Given the description of an element on the screen output the (x, y) to click on. 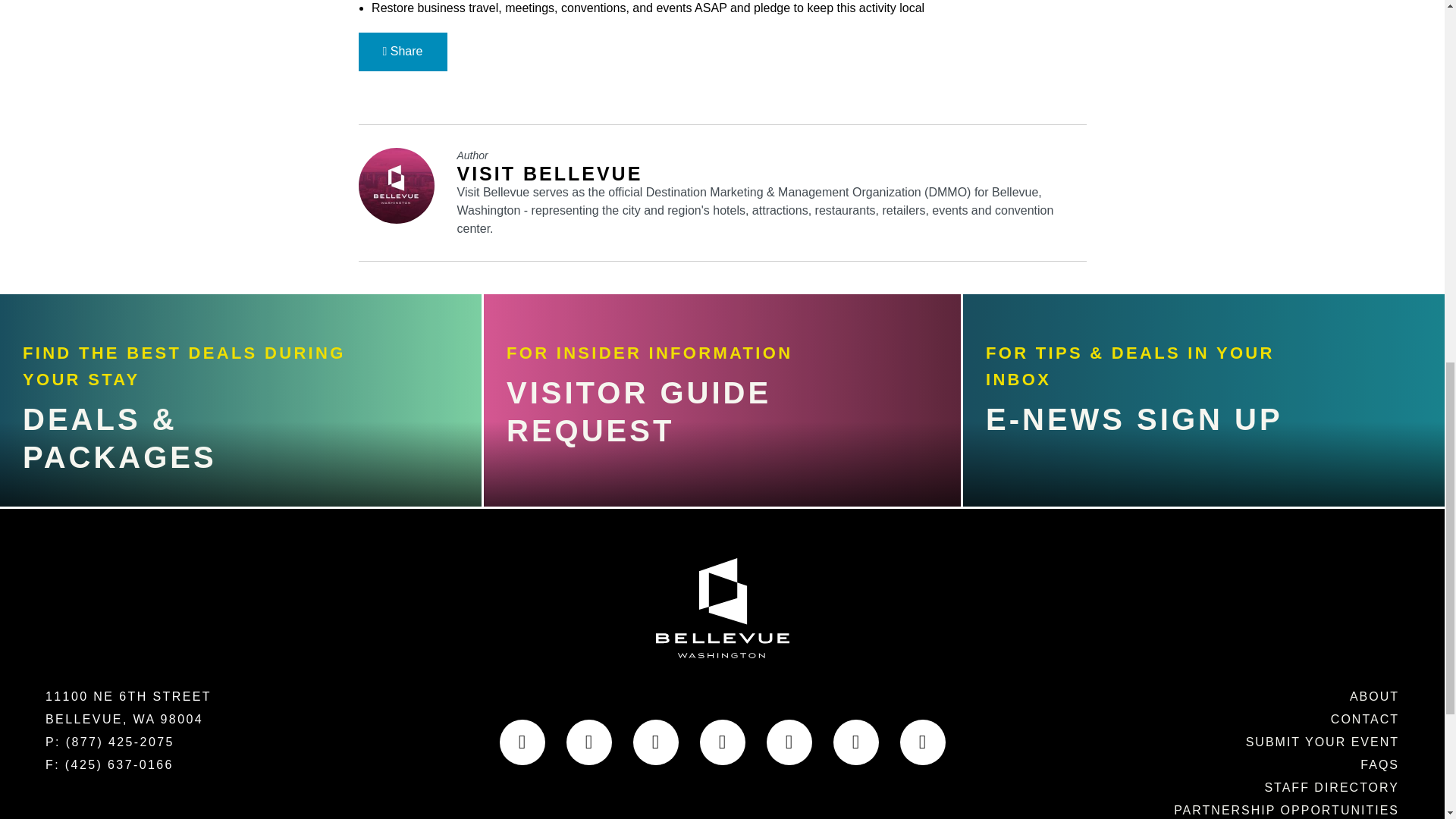
EVENT CALENDAR (250, 181)
Event Calendar (250, 181)
Things To Do (210, 238)
HOTELS (139, 409)
Restaurants (212, 352)
CRUISE TRAVEL (225, 522)
Plan (108, 466)
Hotels (139, 409)
Shopping (167, 295)
RESTAURANTS (212, 352)
